Given the description of an element on the screen output the (x, y) to click on. 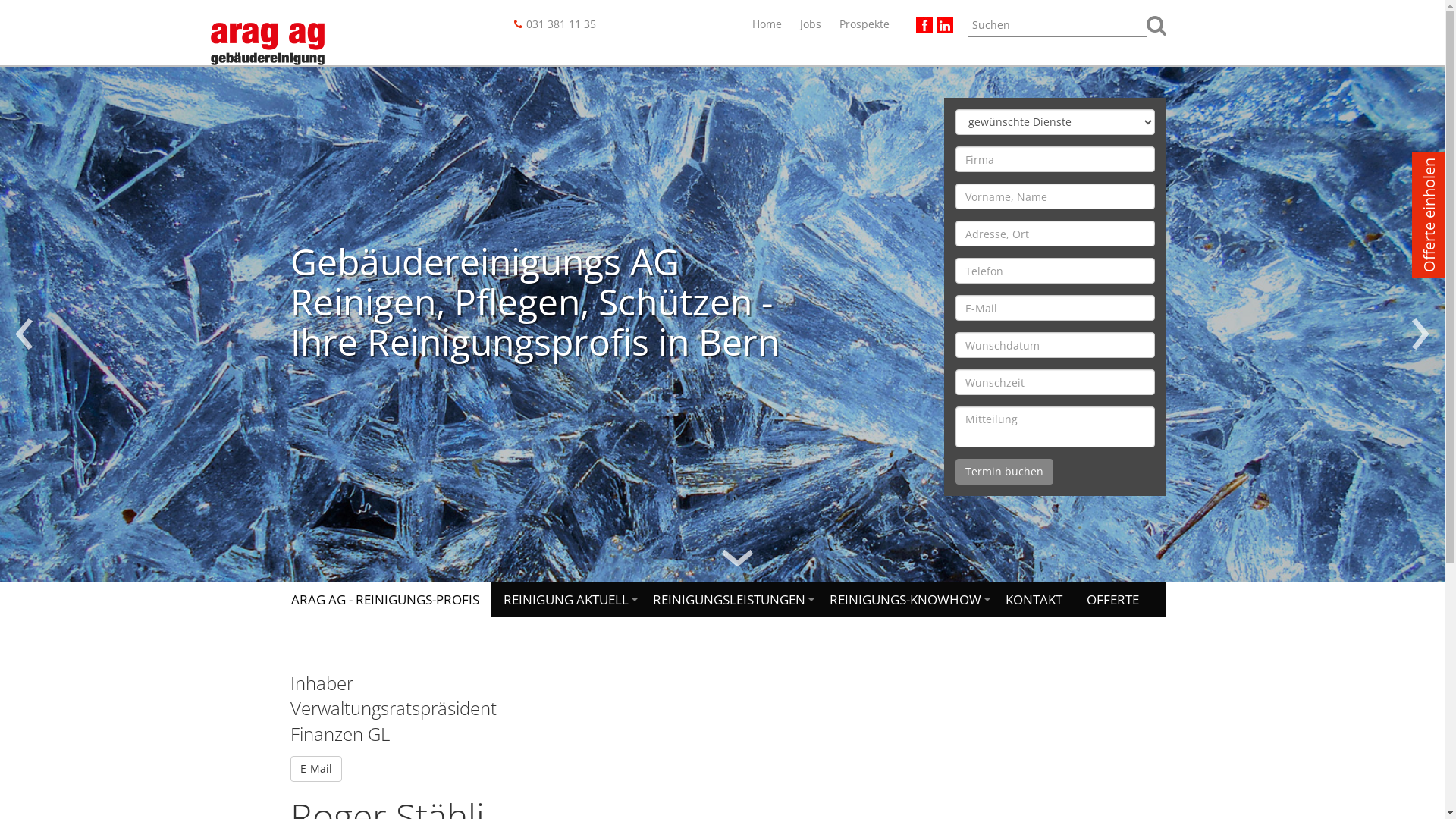
OFFERTE Element type: text (1111, 599)
ARAG AG - REINIGUNGS-PROFIS Element type: text (385, 599)
REINIGUNG AKTUELL Element type: text (565, 599)
E-Mail Element type: text (315, 768)
031 381 11 35 Element type: text (561, 23)
Home Element type: text (768, 23)
KONTAKT Element type: text (1033, 599)
Prospekte Element type: text (863, 23)
Jobs Element type: text (811, 23)
REINIGUNGSLEISTUNGEN Element type: text (728, 599)
Termin buchen Element type: text (1004, 471)
REINIGUNGS-KNOWHOW Element type: text (905, 599)
